Given the description of an element on the screen output the (x, y) to click on. 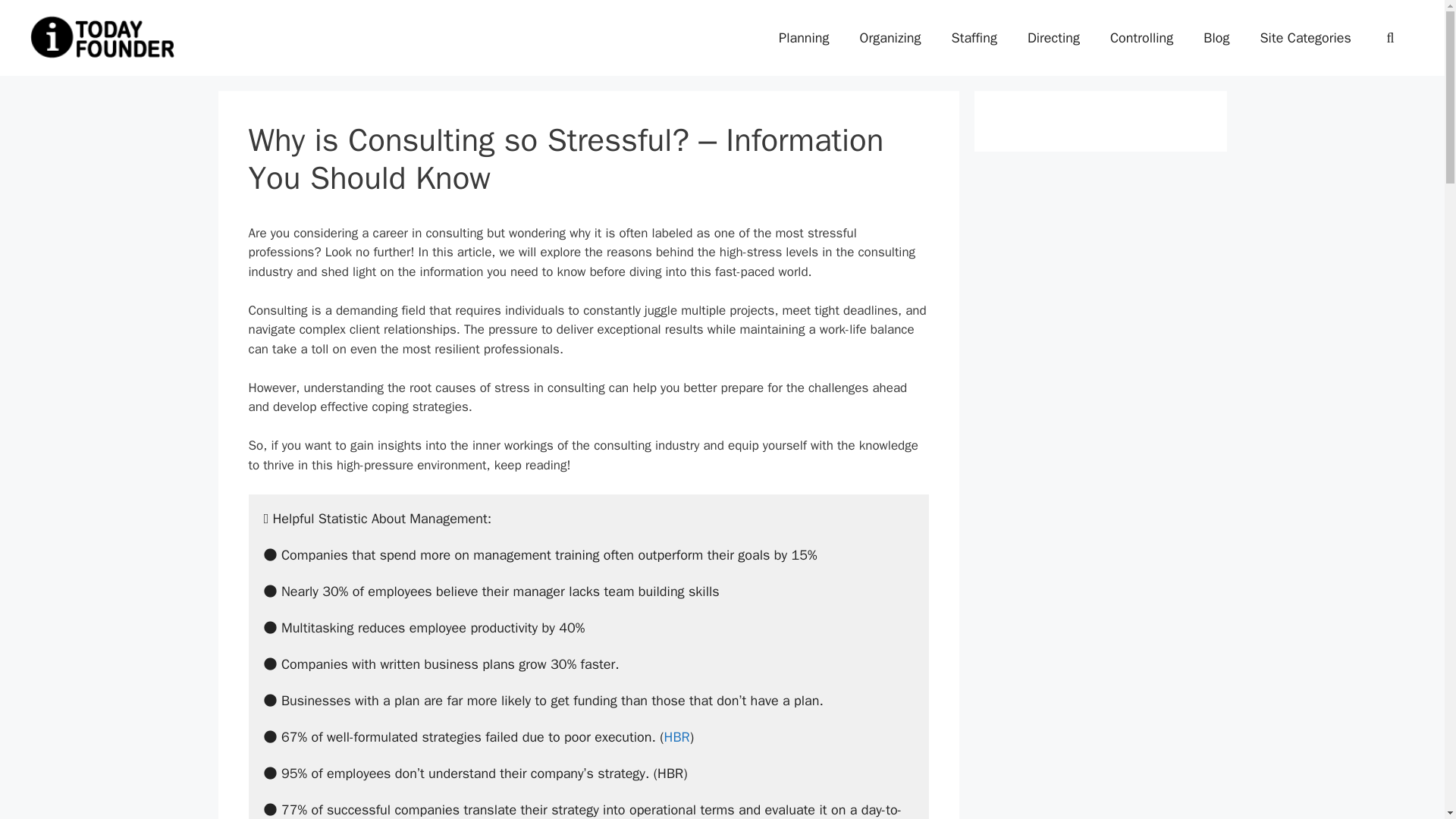
Controlling (1141, 37)
Blog (1216, 37)
Directing (1052, 37)
Organizing (890, 37)
HBR (676, 736)
Site Categories (1304, 37)
Staffing (973, 37)
Planning (803, 37)
